Given the description of an element on the screen output the (x, y) to click on. 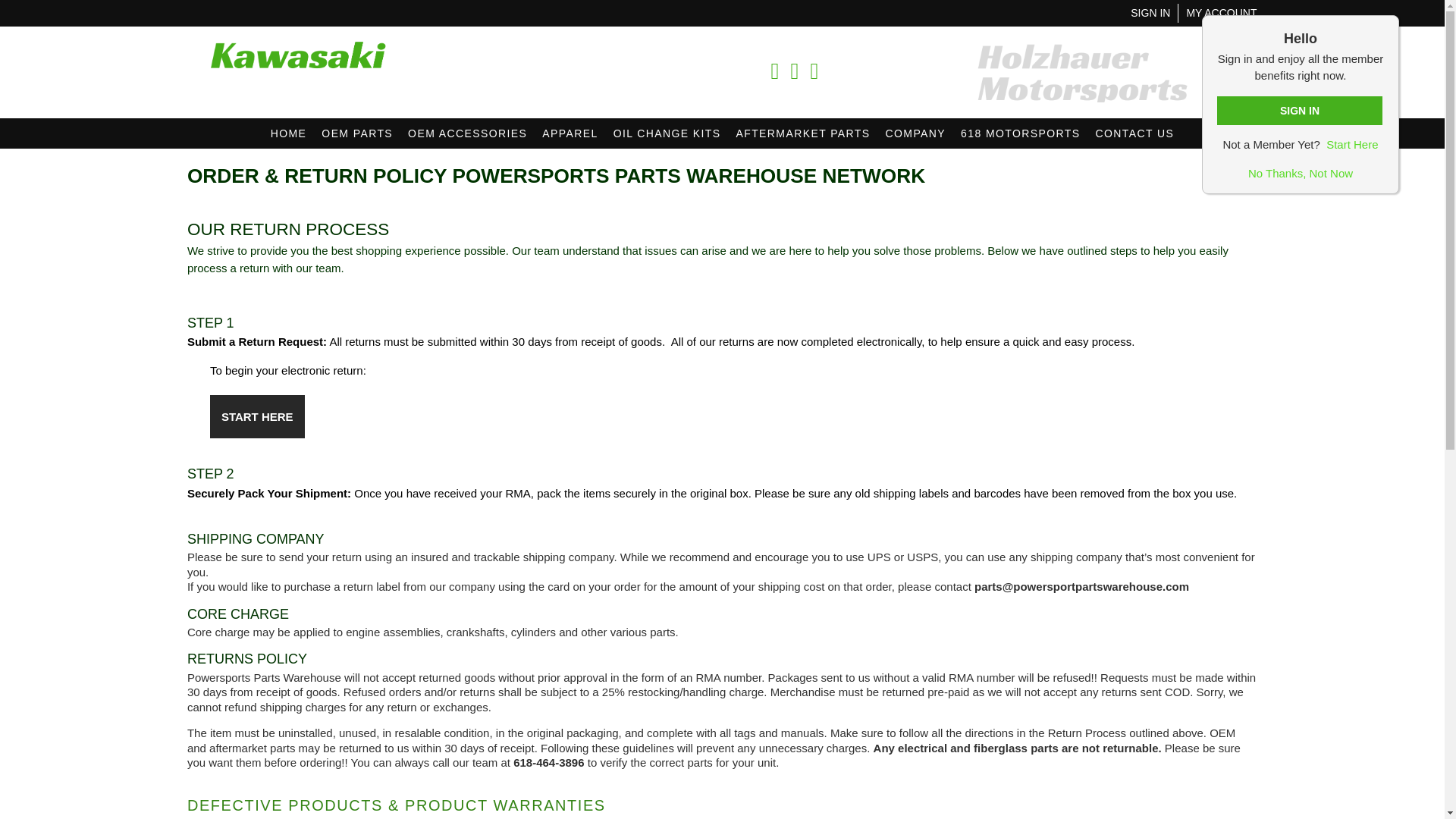
MY ACCOUNT (1221, 12)
OEM ACCESSORIES (467, 132)
AFTERMARKET PARTS (802, 132)
HOME (288, 132)
OEM PARTS (357, 132)
OIL CHANGE KITS (667, 132)
618-464-3896 (694, 71)
Sign In (1150, 12)
SIGN IN (1150, 12)
APPAREL (569, 132)
Return Form (256, 416)
